Given the description of an element on the screen output the (x, y) to click on. 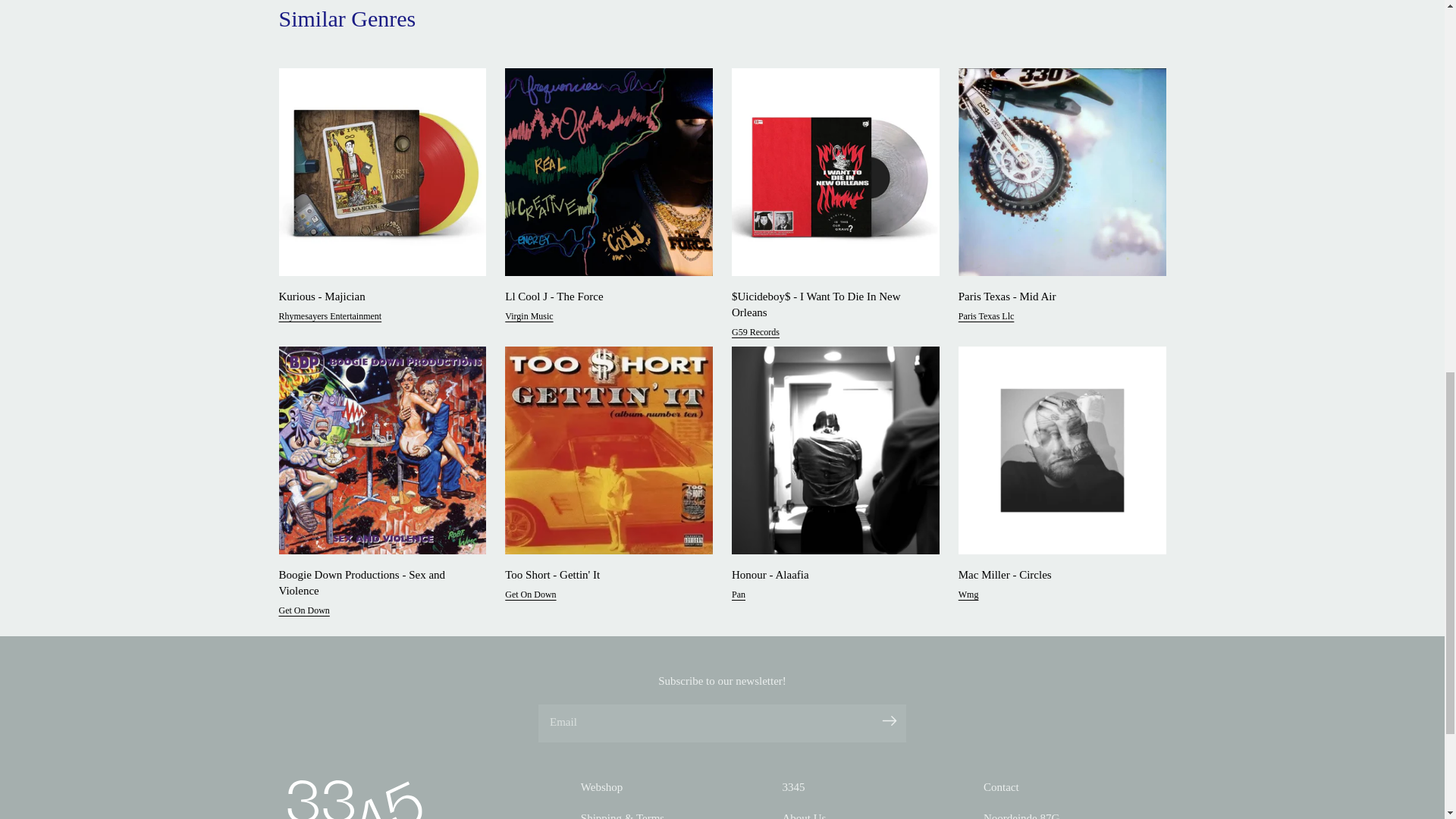
Get On Down (304, 614)
Too Short - Gettin' It (604, 575)
Boogie Down Productions - Sex and Violence (378, 582)
Paris Texas Llc (986, 320)
Ll Cool J - The Force (604, 296)
G59 Records (755, 335)
Honour - Alaafia (831, 575)
Get On Down (530, 598)
Rhymesayers Entertainment (330, 320)
Similar Genres (347, 18)
